Given the description of an element on the screen output the (x, y) to click on. 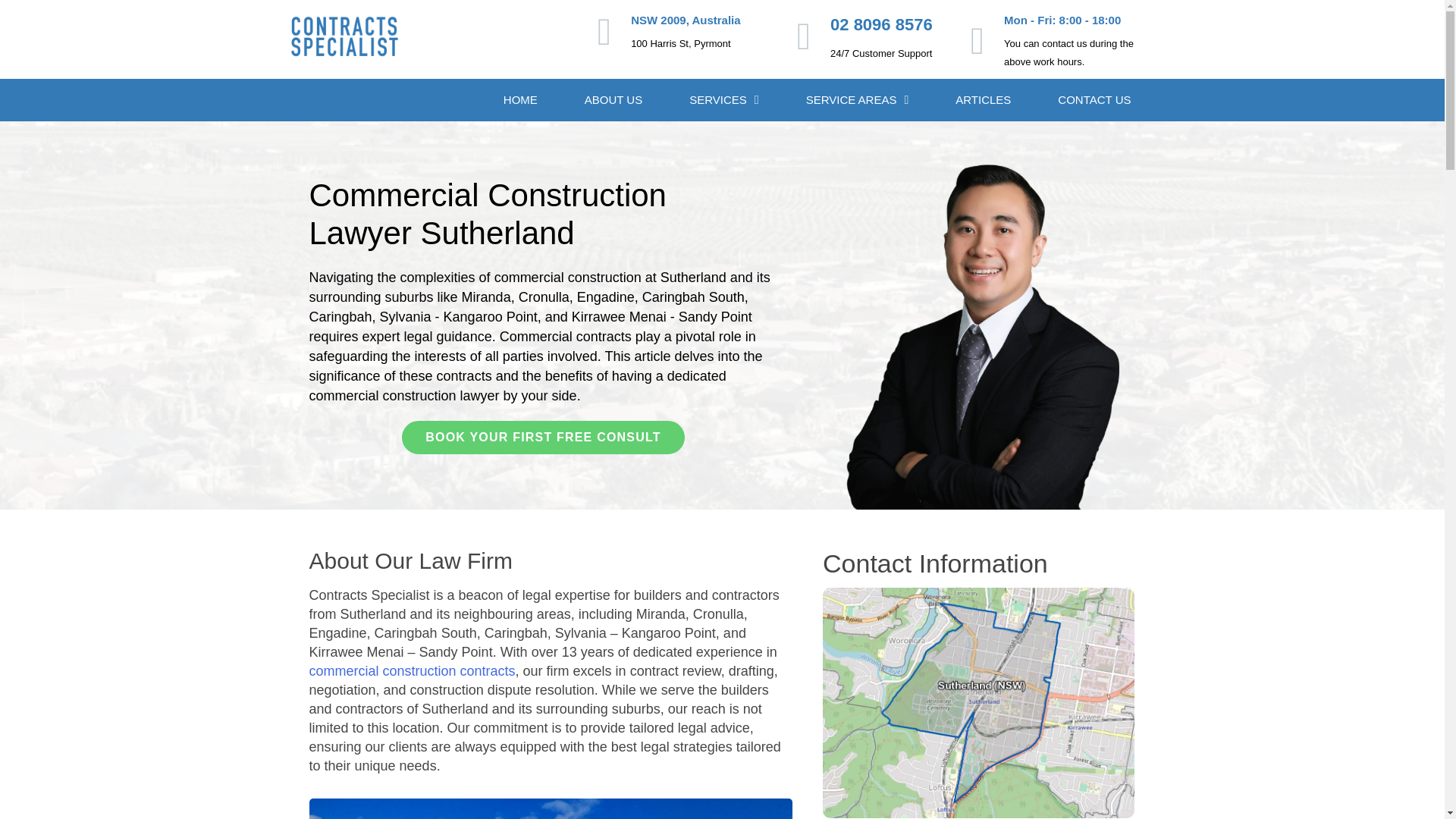
02 8096 8576 (881, 24)
commercial construction contracts (411, 670)
SERVICES (723, 99)
ABOUT US (612, 99)
SERVICE AREAS (858, 99)
HOME (520, 99)
CONTACT US (1093, 99)
BOOK YOUR FIRST FREE CONSULT (542, 437)
ARTICLES (982, 99)
